Given the description of an element on the screen output the (x, y) to click on. 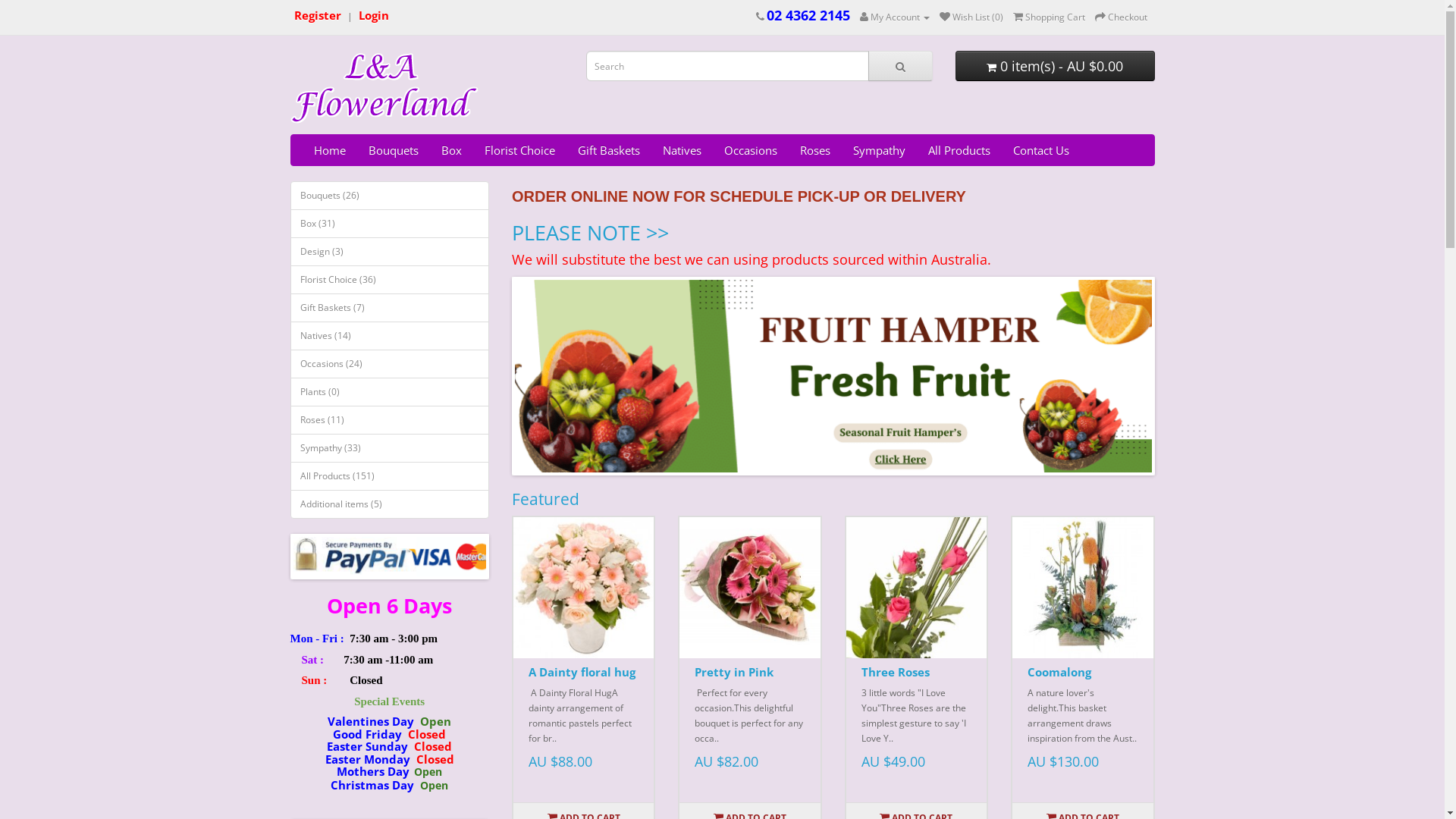
Box Element type: text (450, 149)
All Products (151) Element type: text (389, 475)
Coomalong Element type: text (1059, 671)
Roses (11) Element type: text (389, 419)
Box (31) Element type: text (389, 223)
Additional items (5) Element type: text (389, 503)
Natives Element type: text (681, 149)
Checkout Element type: text (1121, 16)
Three Roses Element type: hover (916, 587)
A Dainty floral hug Element type: hover (583, 587)
Register Element type: text (317, 15)
Wish List (0) Element type: text (970, 16)
Bouquets Element type: text (392, 149)
Gift Baskets Element type: text (607, 149)
Occasions Element type: text (750, 149)
Coomalong Element type: hover (1082, 587)
Natives (14) Element type: text (389, 335)
Contact Us Element type: text (1040, 149)
Sympathy Element type: text (878, 149)
Bouquets (26) Element type: text (389, 195)
Pretty in Pink Element type: hover (749, 587)
Plants (0) Element type: text (389, 391)
All Products Element type: text (958, 149)
Login Element type: text (372, 15)
Three Roses Element type: text (895, 671)
Roses Element type: text (814, 149)
Occasions (24) Element type: text (389, 363)
Florist Choice Element type: text (519, 149)
Pretty in Pink Element type: text (733, 671)
Florist Choice (36) Element type: text (389, 279)
Sympathy (33) Element type: text (389, 447)
L & A FLOWERLAND Element type: hover (384, 88)
Design (3) Element type: text (389, 251)
Shopping Cart Element type: text (1049, 16)
A Dainty floral hug Element type: text (581, 671)
Home Element type: text (328, 149)
My Account Element type: text (894, 16)
Gift Baskets (7) Element type: text (389, 307)
0 item(s) - AU $0.00 Element type: text (1054, 65)
